Given the description of an element on the screen output the (x, y) to click on. 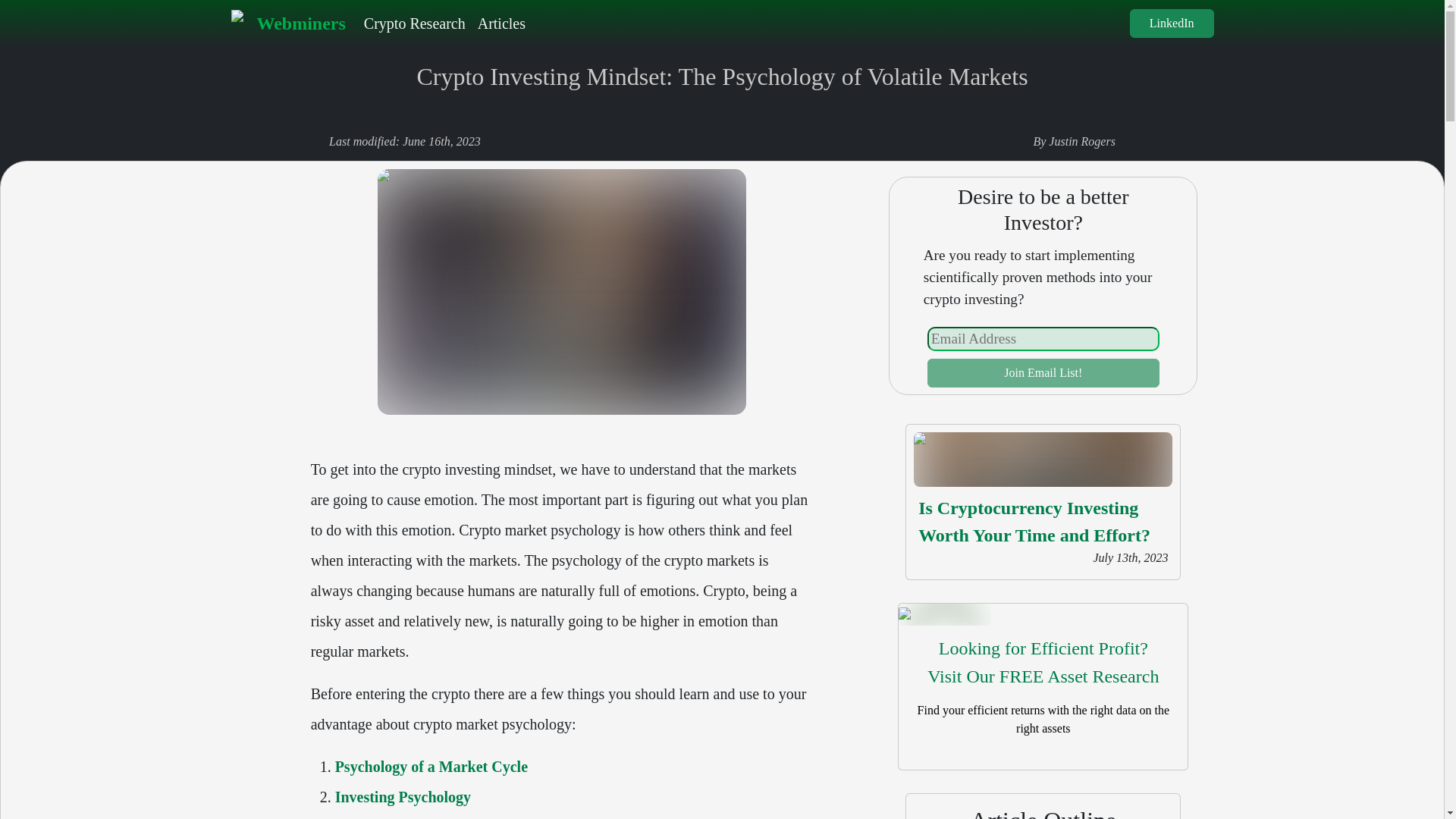
LinkedIn (1171, 23)
Webminers (287, 22)
Psychology of a Market Cycle (430, 766)
Crypto Research (414, 22)
Is Cryptocurrency Investing Worth Your Time and Effort? (1034, 521)
Articles (501, 22)
Join Email List! (1043, 662)
Investing Psychology (1042, 372)
